Given the description of an element on the screen output the (x, y) to click on. 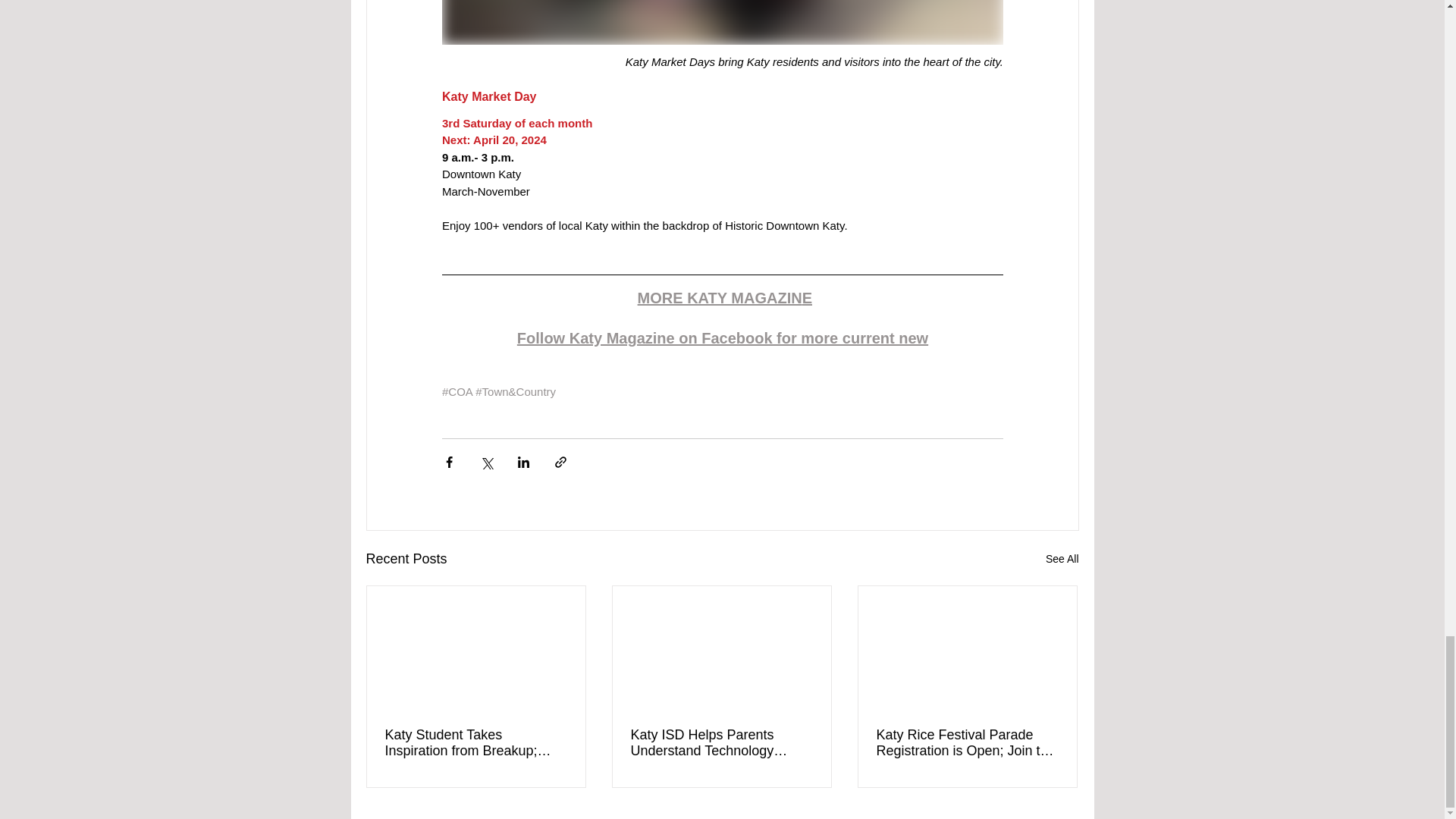
Follow Katy Magazine on Facebook for more current new (721, 338)
See All (1061, 558)
MORE KATY MAGAZIN (719, 297)
